Given the description of an element on the screen output the (x, y) to click on. 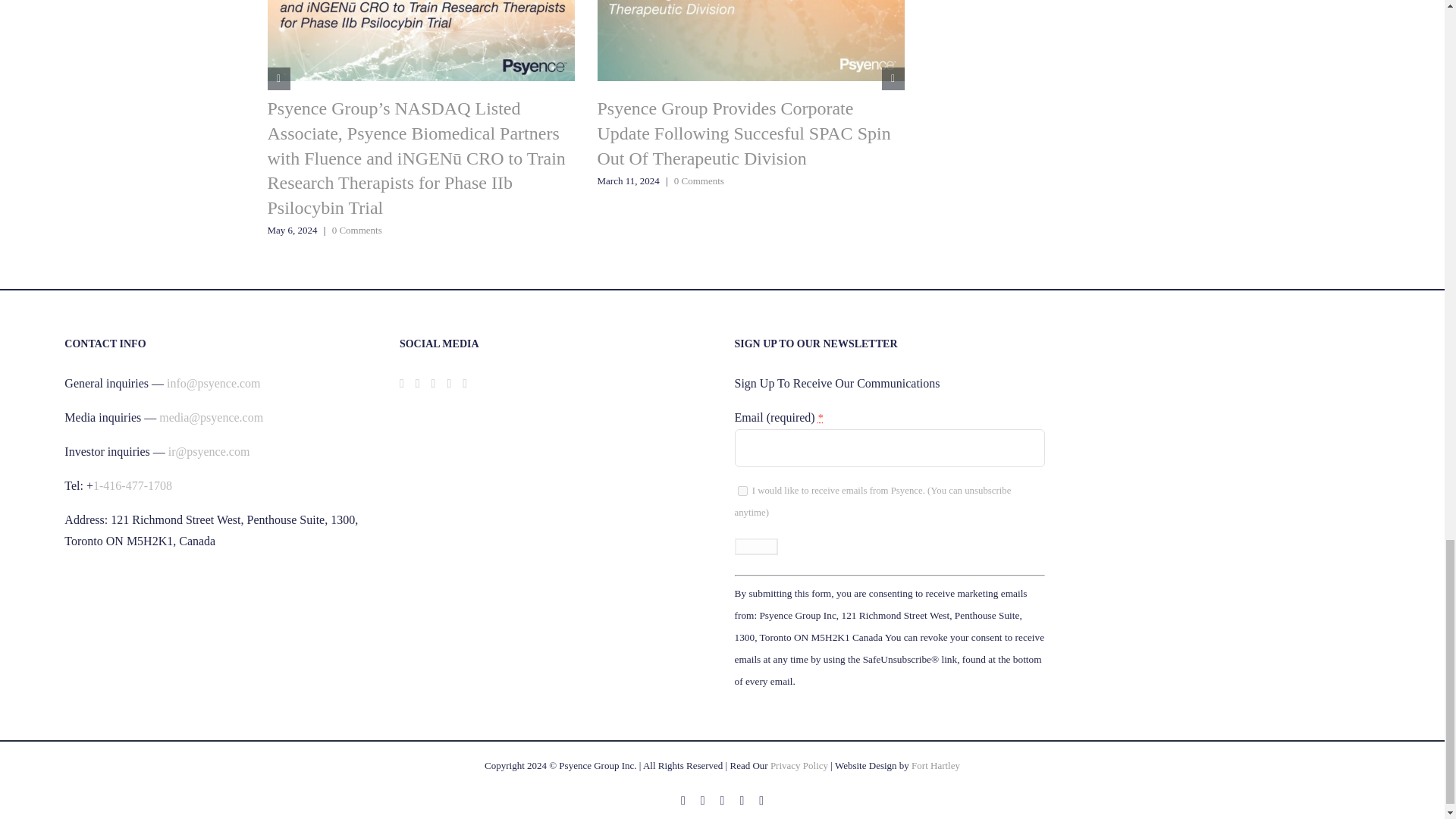
1 (741, 491)
Sign up (755, 546)
